Given the description of an element on the screen output the (x, y) to click on. 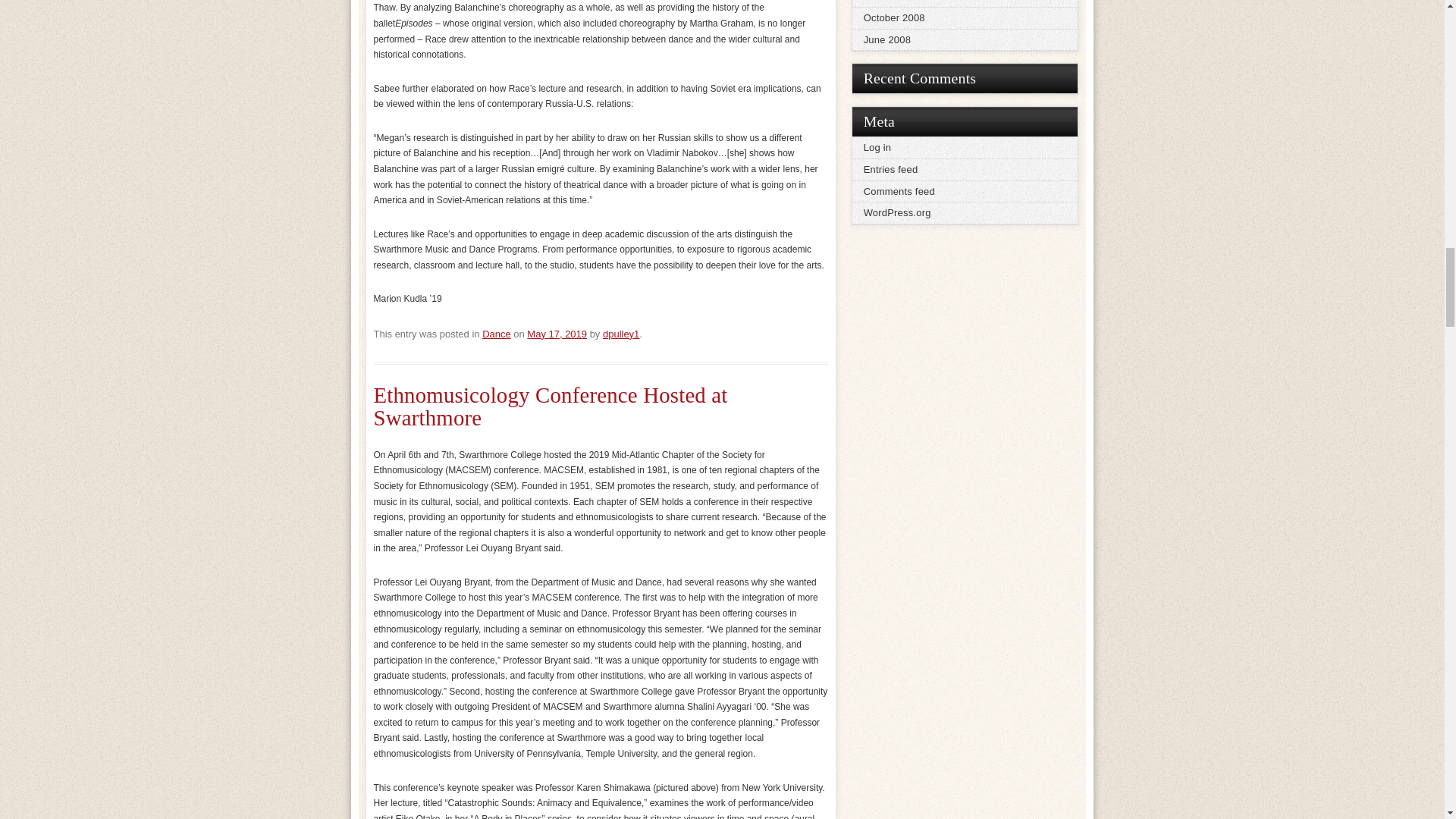
Dance (496, 333)
May 17, 2019 (556, 333)
View all posts by dpulley1 (620, 333)
Permalink to Ethnomusicology Conference Hosted at Swarthmore (549, 406)
Ethnomusicology Conference Hosted at Swarthmore (549, 406)
dpulley1 (620, 333)
9:19 am (556, 333)
